Given the description of an element on the screen output the (x, y) to click on. 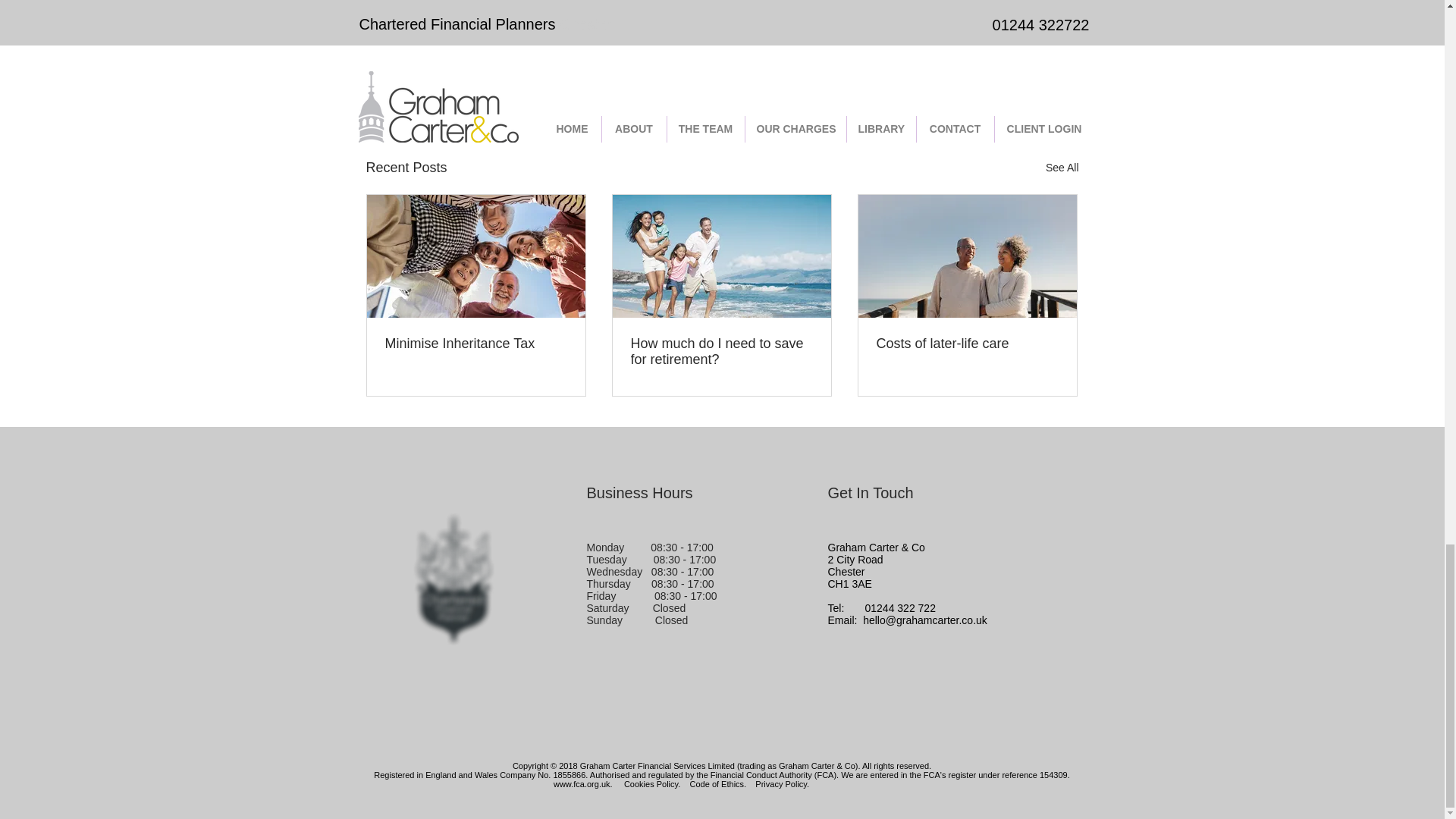
See All (1061, 168)
Costs of later-life care (967, 343)
Cookies Policy. (651, 783)
01244 322 722 (900, 607)
How much do I need to save for retirement? (721, 351)
Code of Ethics. (718, 783)
Minimise Inheritance Tax (476, 343)
www.fca.org.uk (581, 783)
Privacy Policy. (782, 783)
